Given the description of an element on the screen output the (x, y) to click on. 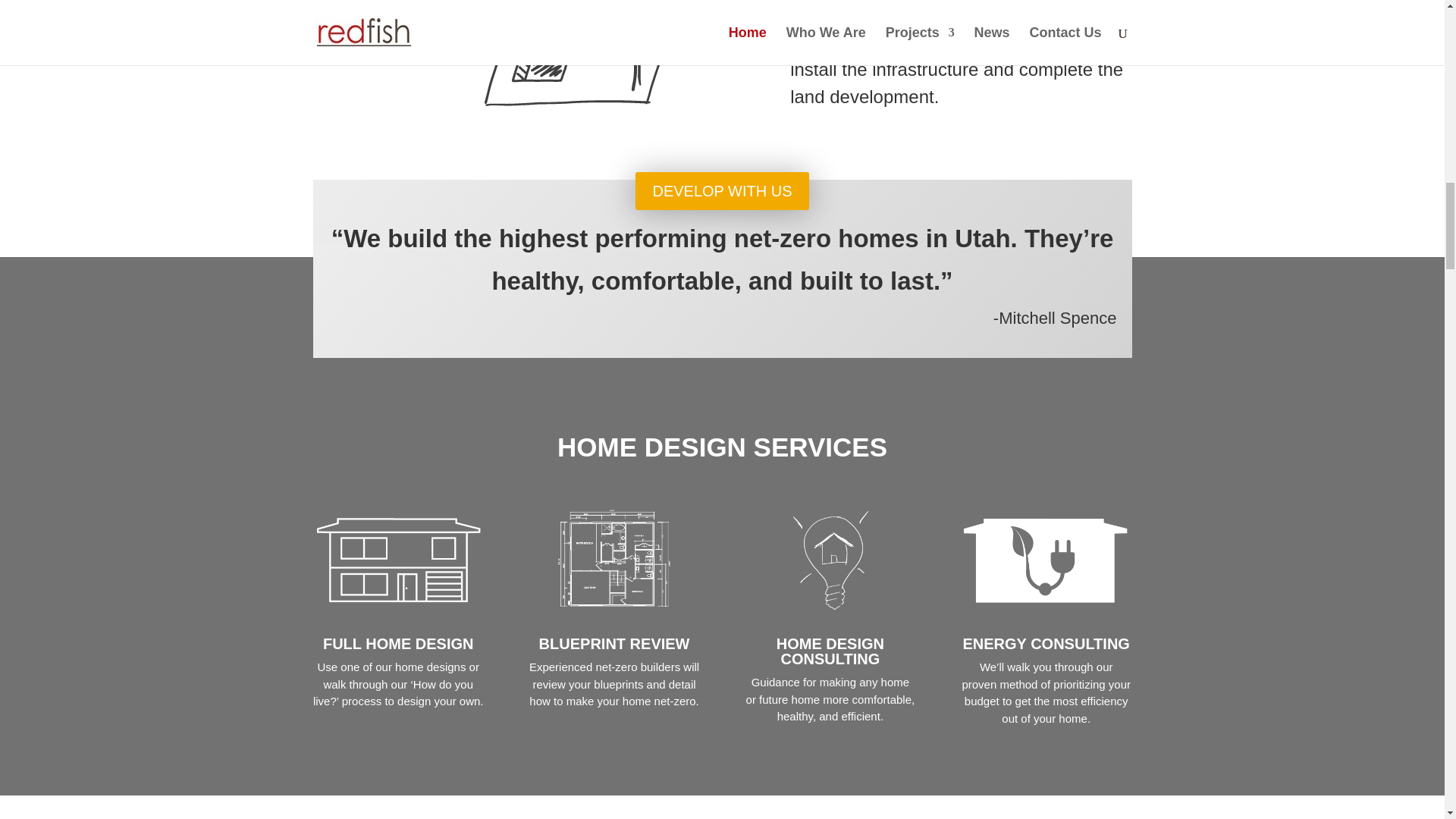
DEVELOP WITH US (721, 190)
